Given the description of an element on the screen output the (x, y) to click on. 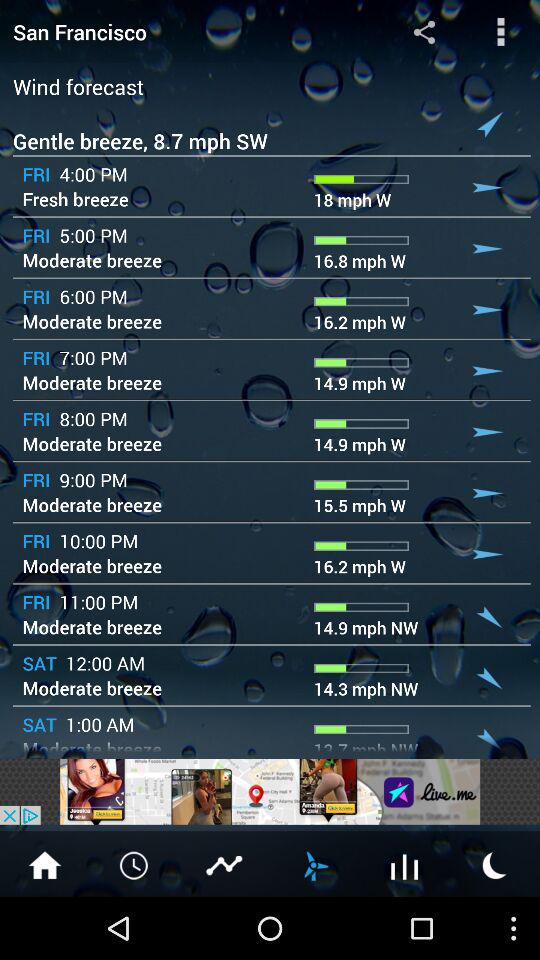
click the second wind meter bar (360, 240)
